Given the description of an element on the screen output the (x, y) to click on. 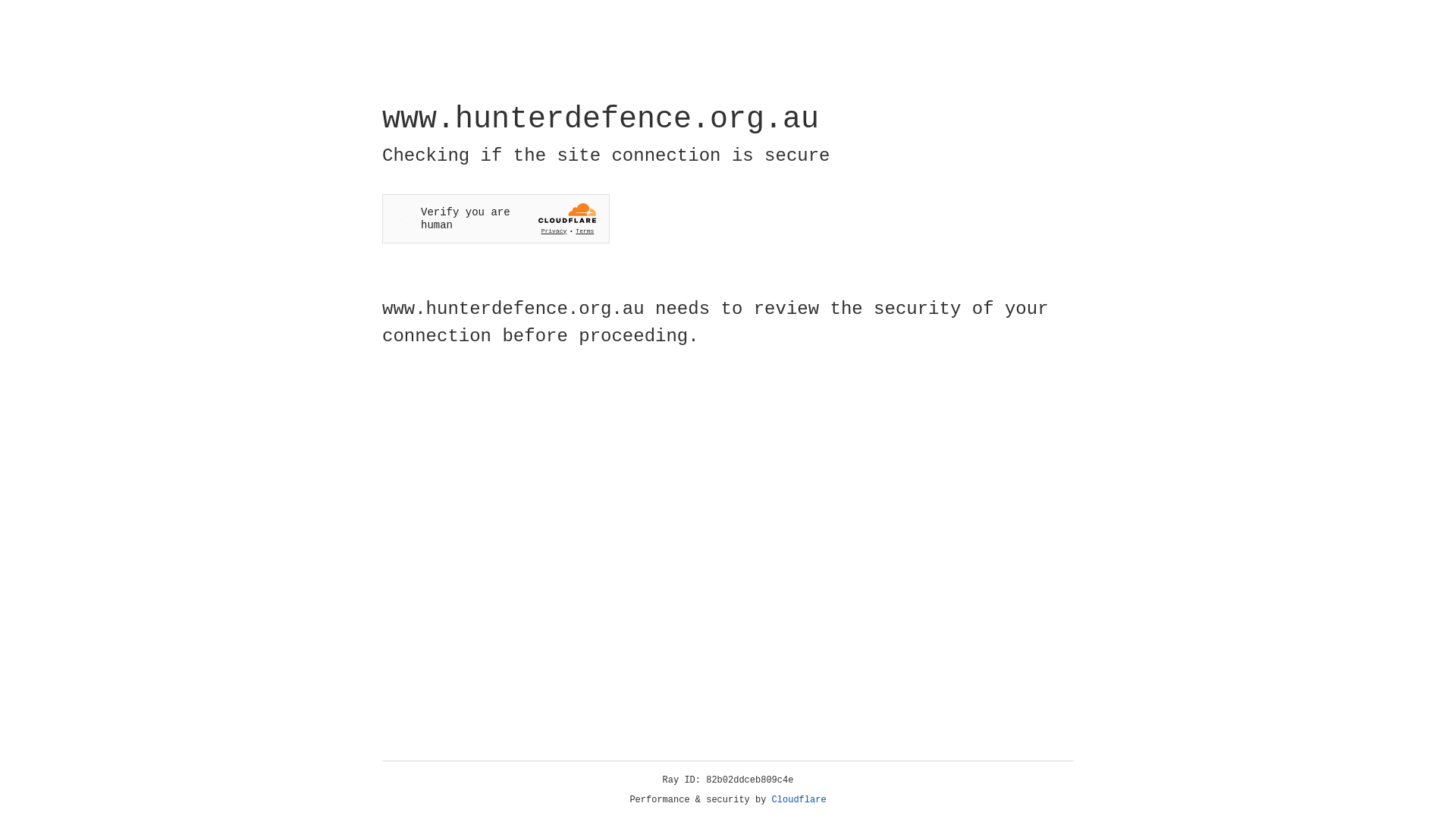
Widget containing a Cloudflare security challenge Element type: hover (495, 218)
Cloudflare Element type: text (798, 799)
